Given the description of an element on the screen output the (x, y) to click on. 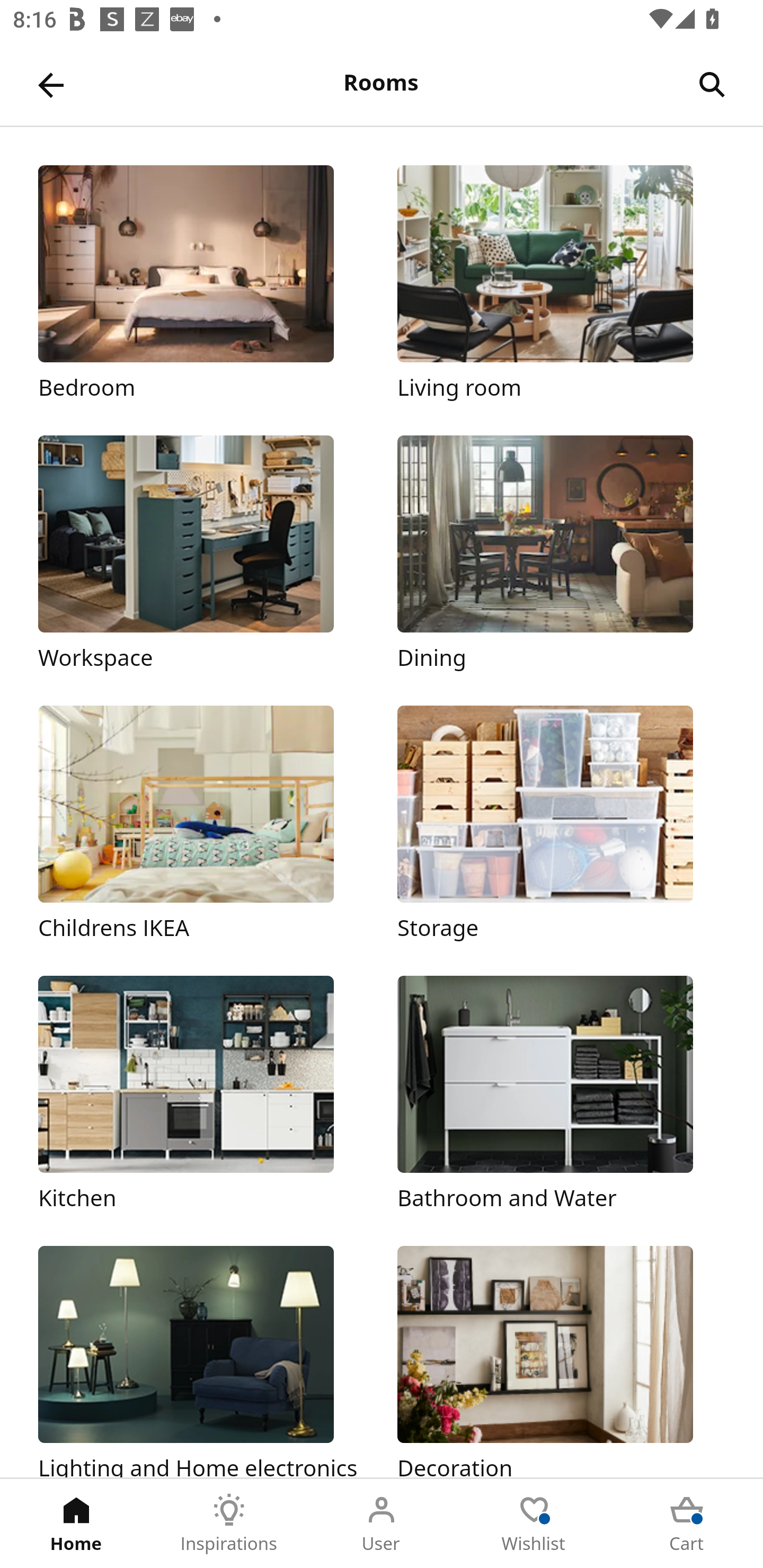
Bedroom (201, 283)
Living room (560, 283)
Workspace (201, 554)
Dining (560, 554)
Childrens IKEA (201, 824)
Storage (560, 824)
Kitchen (201, 1094)
Bathroom and Water (560, 1094)
Lighting and Home electronics (201, 1361)
Decoration (560, 1361)
Home
Tab 1 of 5 (76, 1522)
Inspirations
Tab 2 of 5 (228, 1522)
User
Tab 3 of 5 (381, 1522)
Wishlist
Tab 4 of 5 (533, 1522)
Cart
Tab 5 of 5 (686, 1522)
